Given the description of an element on the screen output the (x, y) to click on. 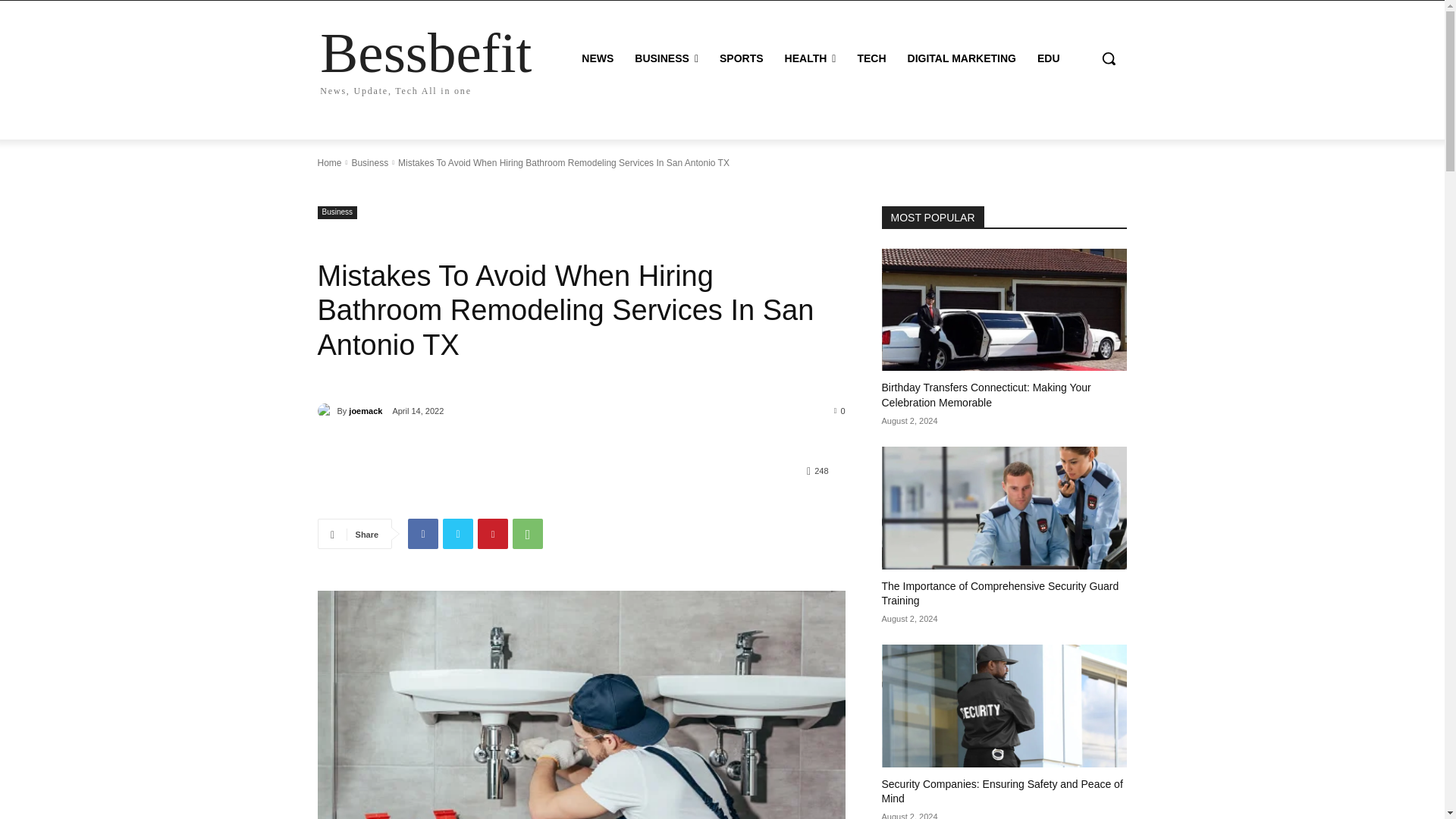
DIGITAL MARKETING (961, 58)
HEALTH (810, 58)
TECH (870, 58)
Twitter (457, 533)
Home (328, 163)
View all posts in Business (369, 163)
EDU (1048, 58)
WhatsApp (527, 533)
SPORTS (741, 58)
BUSINESS (666, 58)
Facebook (422, 533)
NEWS (597, 58)
joemack (326, 410)
Pinterest (425, 58)
